Given the description of an element on the screen output the (x, y) to click on. 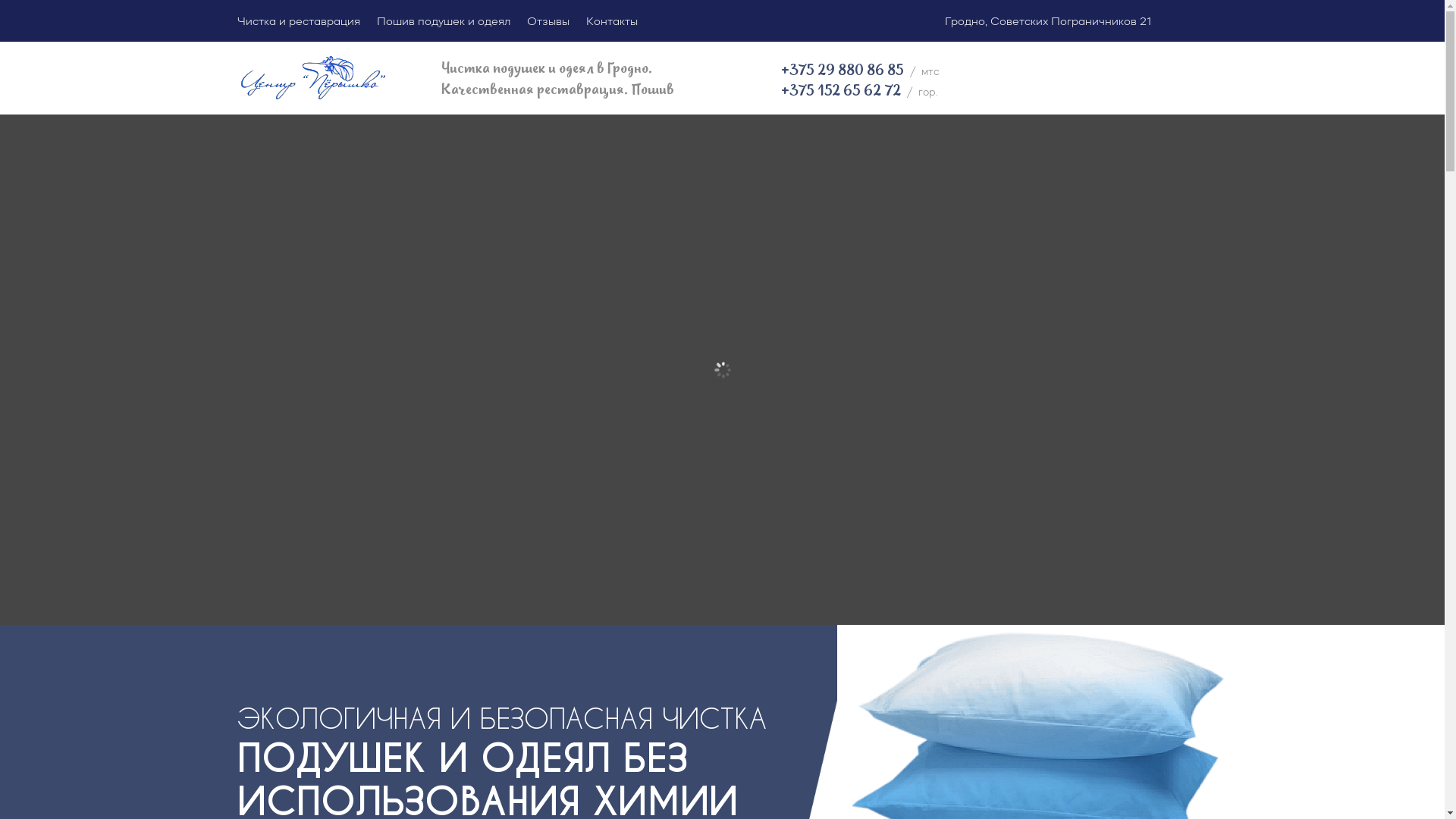
peryshko_logo (2) Element type: hover (312, 79)
+375 152 65 62 72 Element type: text (840, 91)
+375 29 880 86 85 Element type: text (842, 70)
